Given the description of an element on the screen output the (x, y) to click on. 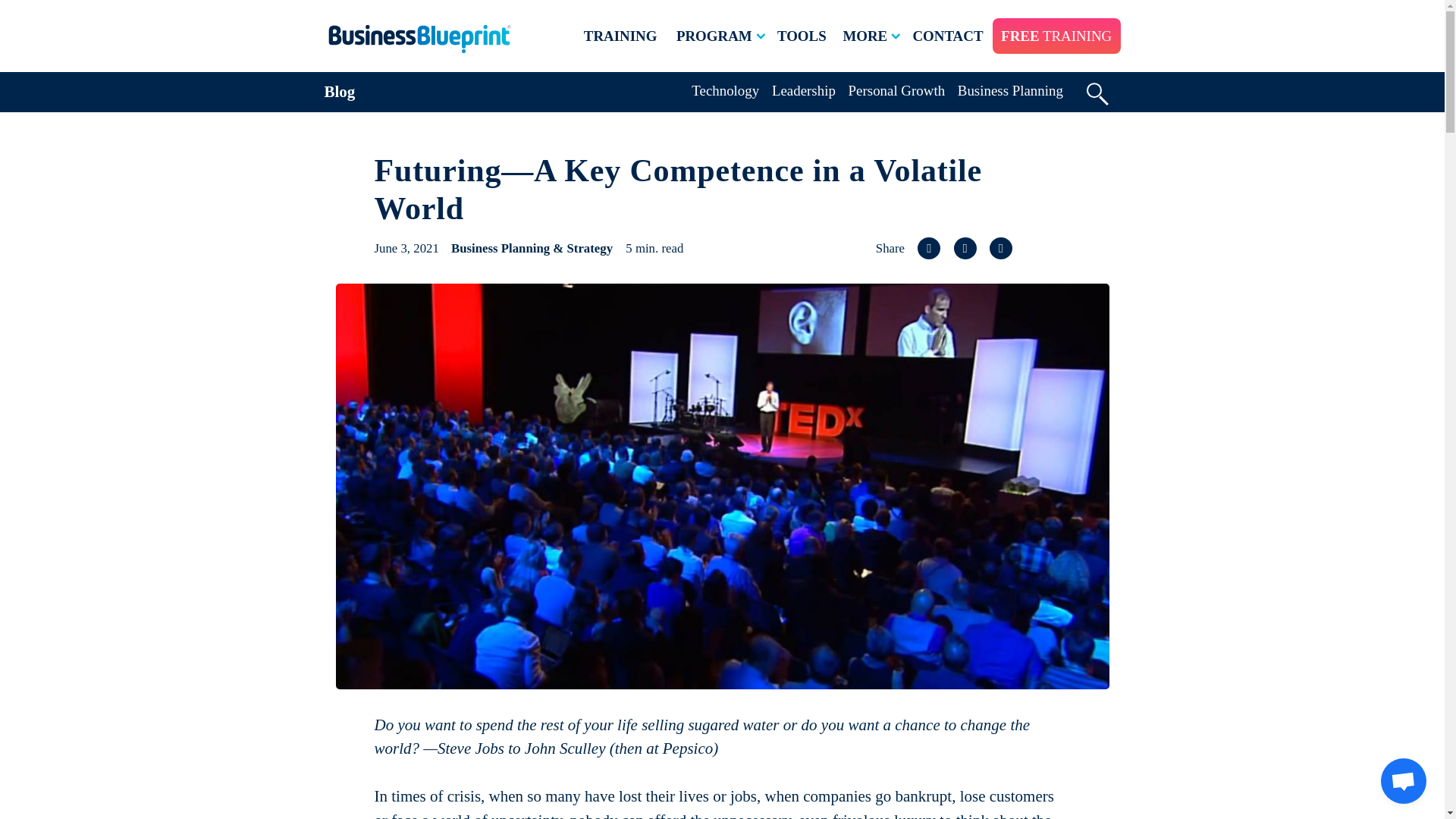
CONTACT (947, 36)
Technology (724, 90)
Business Planning (1010, 90)
Blog (339, 91)
Return to homepage (418, 39)
FREE TRAINING (1056, 36)
TOOLS (802, 36)
TRAINING (620, 36)
MORE (872, 36)
PROGRAM (722, 36)
Leadership (803, 90)
Personal Growth (896, 90)
